Given the description of an element on the screen output the (x, y) to click on. 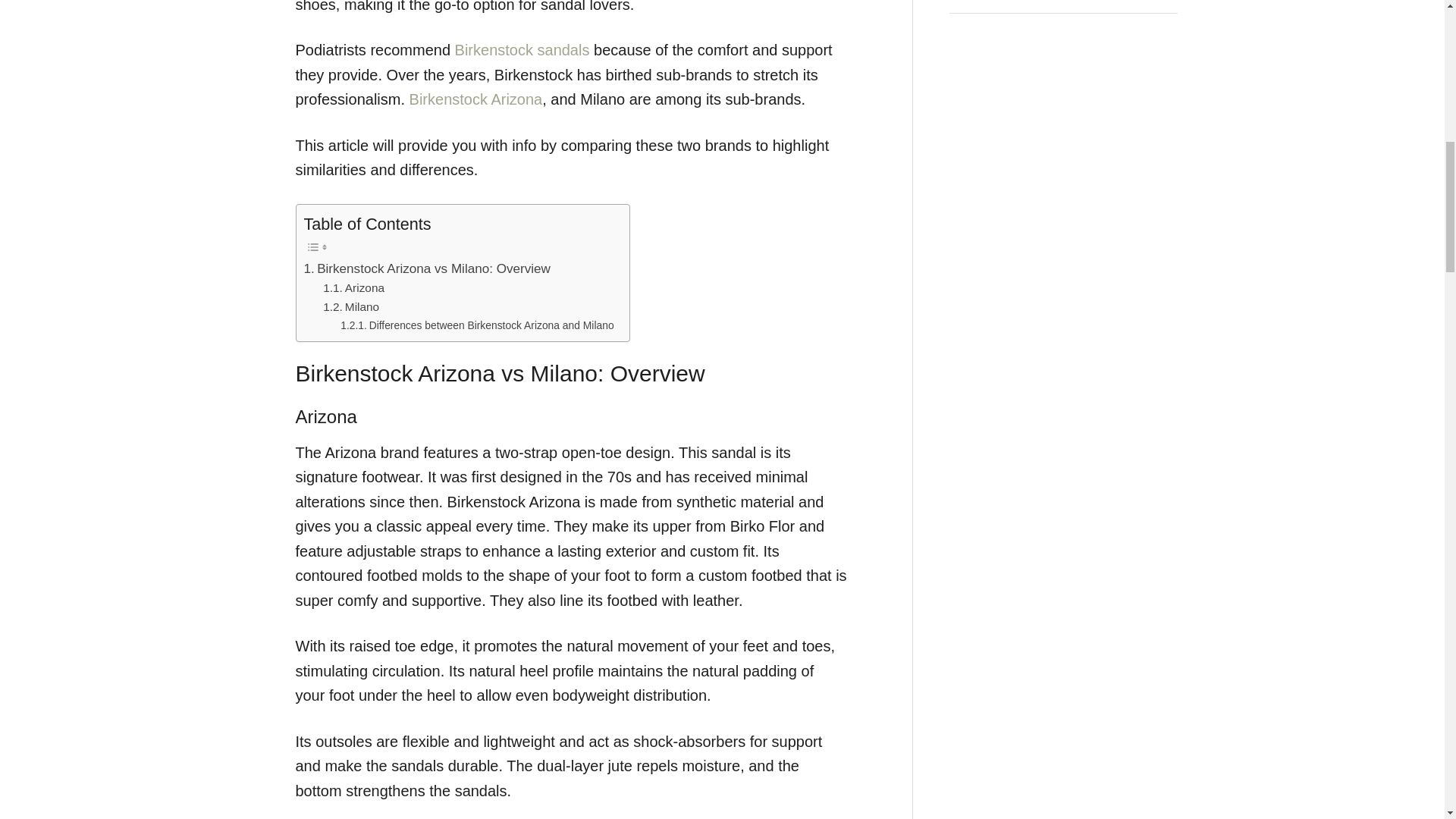
Milano (350, 307)
Birkenstock Arizona vs Milano: Overview (426, 268)
Arizona (353, 288)
Differences between Birkenstock Arizona and Milano (476, 324)
Milano (350, 307)
Birkenstock sandals (521, 49)
Birkenstock Arizona (476, 98)
Differences between Birkenstock Arizona and Milano (476, 324)
Birkenstock Arizona vs Milano: Overview (426, 268)
Arizona (353, 288)
